Given the description of an element on the screen output the (x, y) to click on. 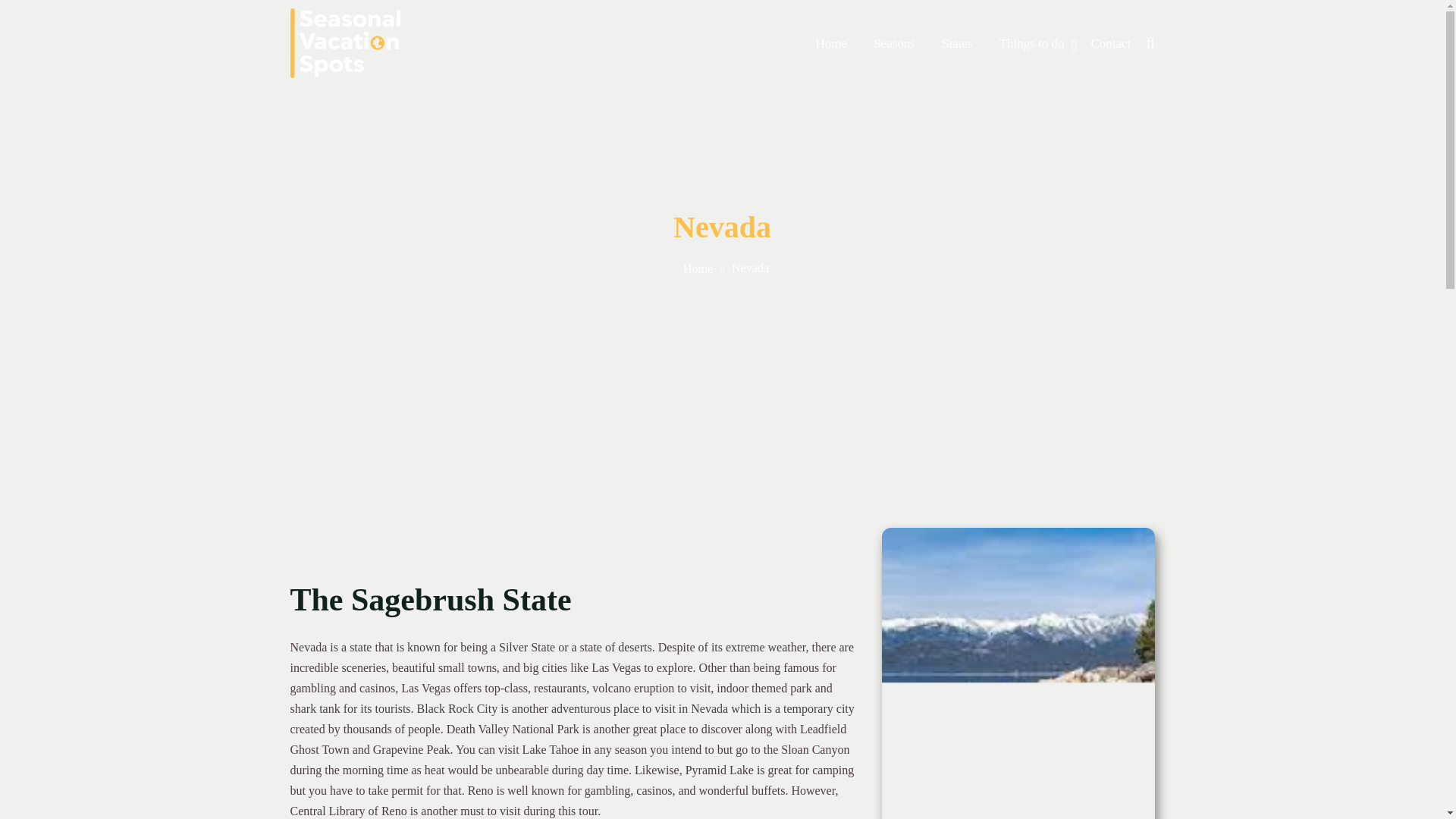
Home (697, 268)
States (957, 44)
Seasons (894, 44)
Things to do (1031, 44)
Contact (1110, 44)
Home (831, 44)
